Given the description of an element on the screen output the (x, y) to click on. 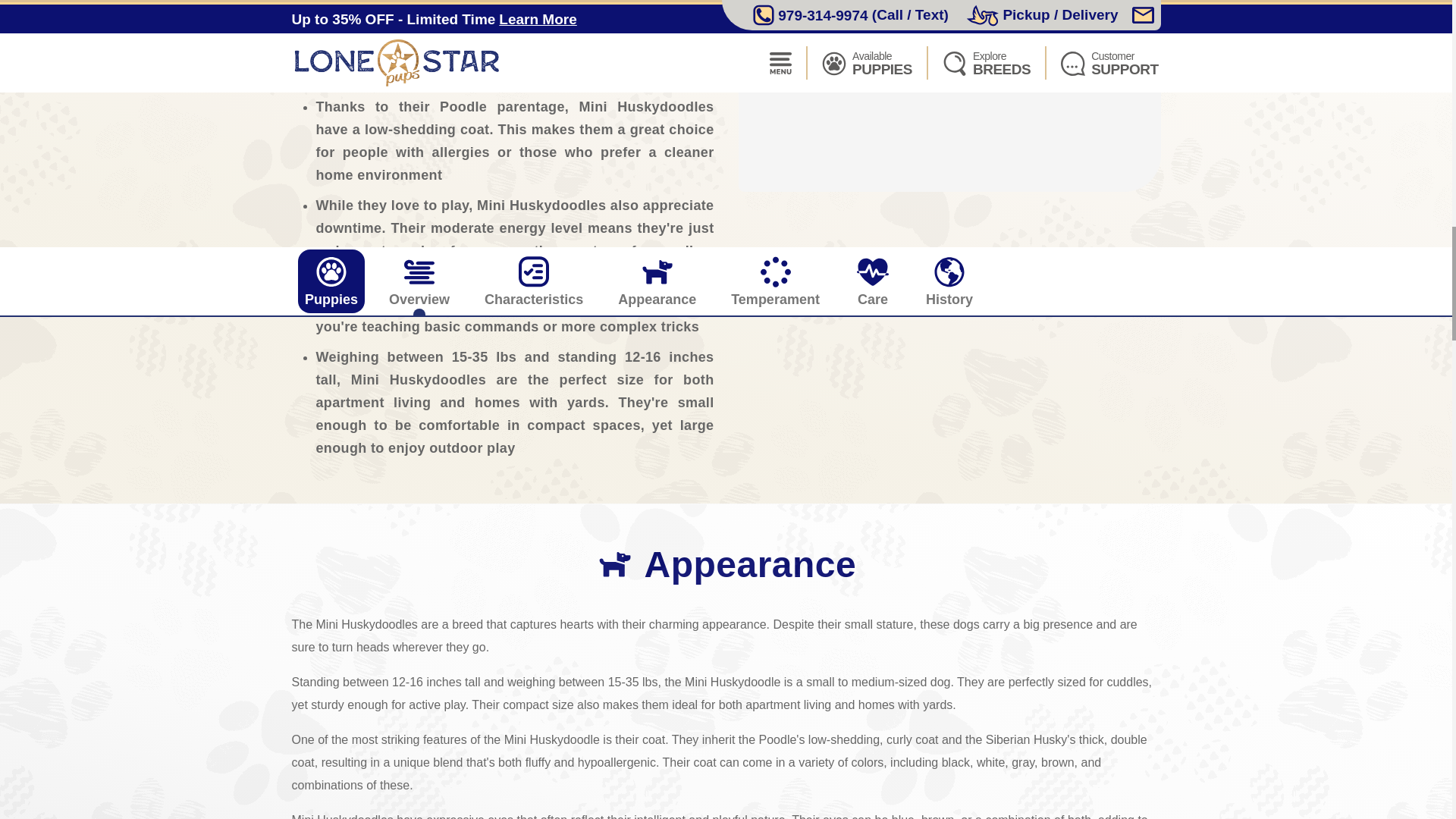
white Mini Huskydoodle puppy outside (949, 95)
